Given the description of an element on the screen output the (x, y) to click on. 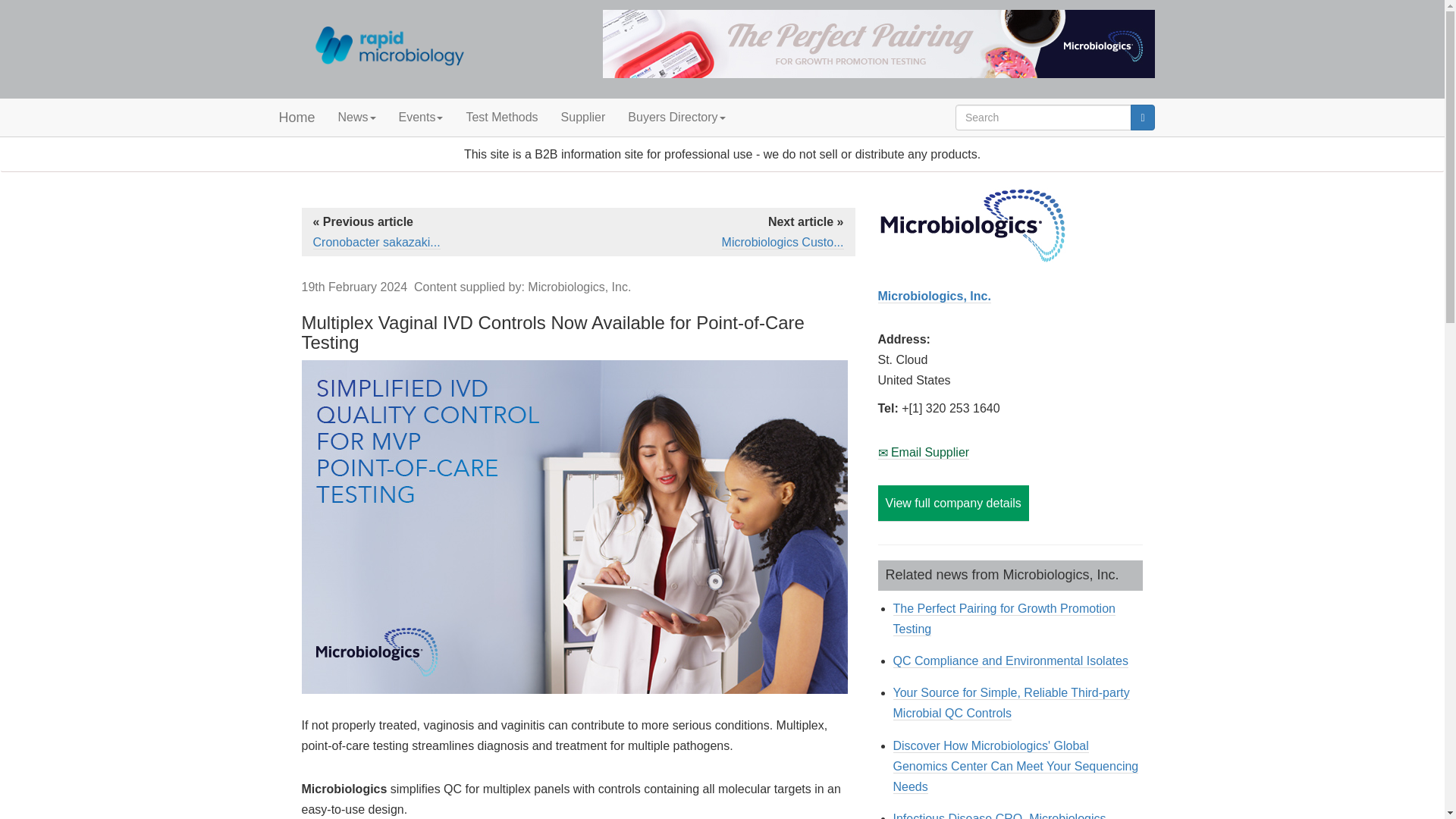
Buyers Directory (675, 117)
Test Methods (501, 117)
Home (296, 117)
Events (420, 117)
Supplier (583, 117)
News (356, 117)
